Given the description of an element on the screen output the (x, y) to click on. 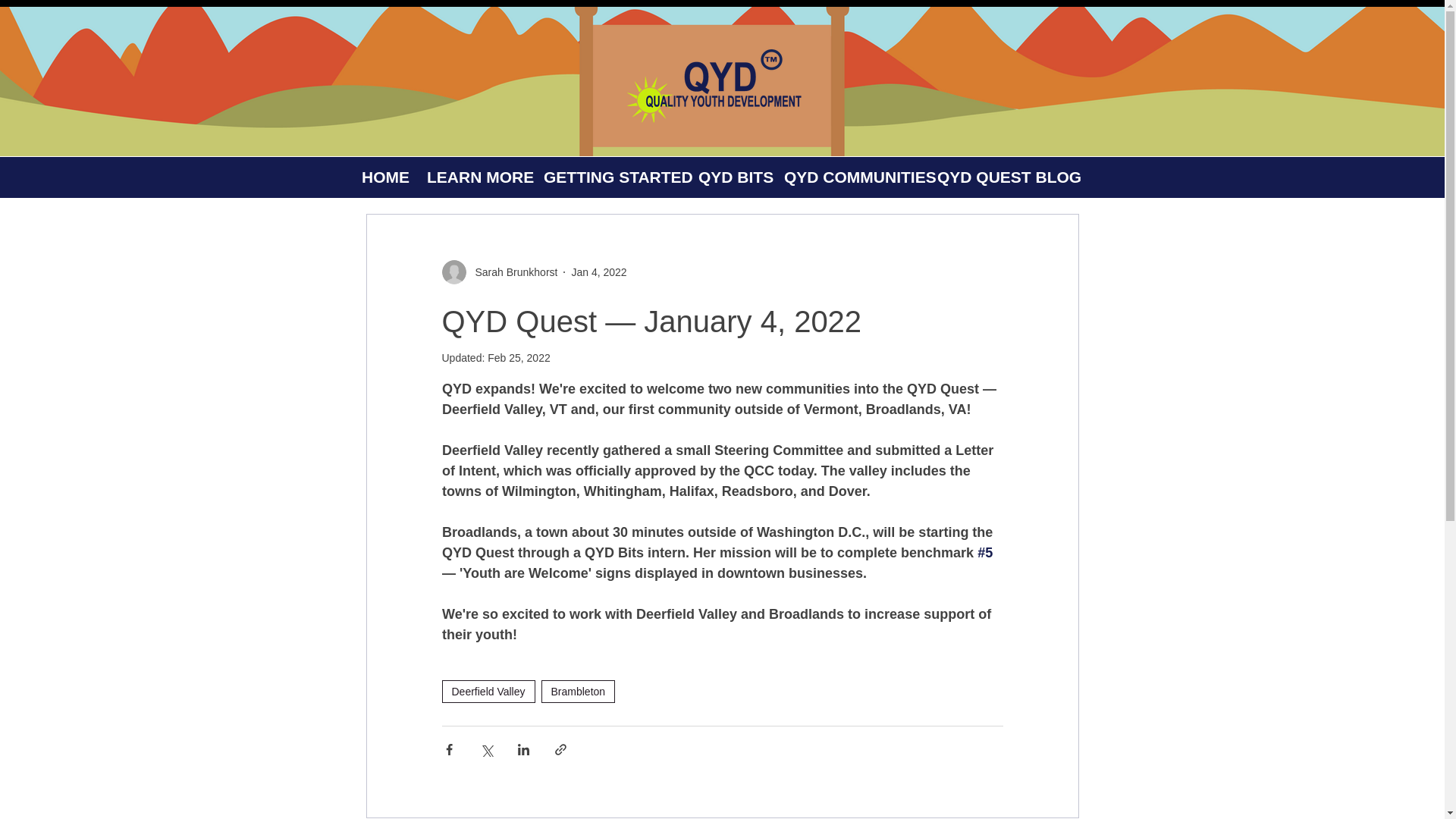
QYD BITS (728, 177)
Brambleton (578, 691)
HOME (381, 177)
Feb 25, 2022 (518, 357)
QYD QUEST BLOG (996, 177)
Jan 4, 2022 (598, 271)
Sarah Brunkhorst (511, 271)
Deerfield Valley (487, 691)
QYD COMMUNITIES (847, 177)
